Given the description of an element on the screen output the (x, y) to click on. 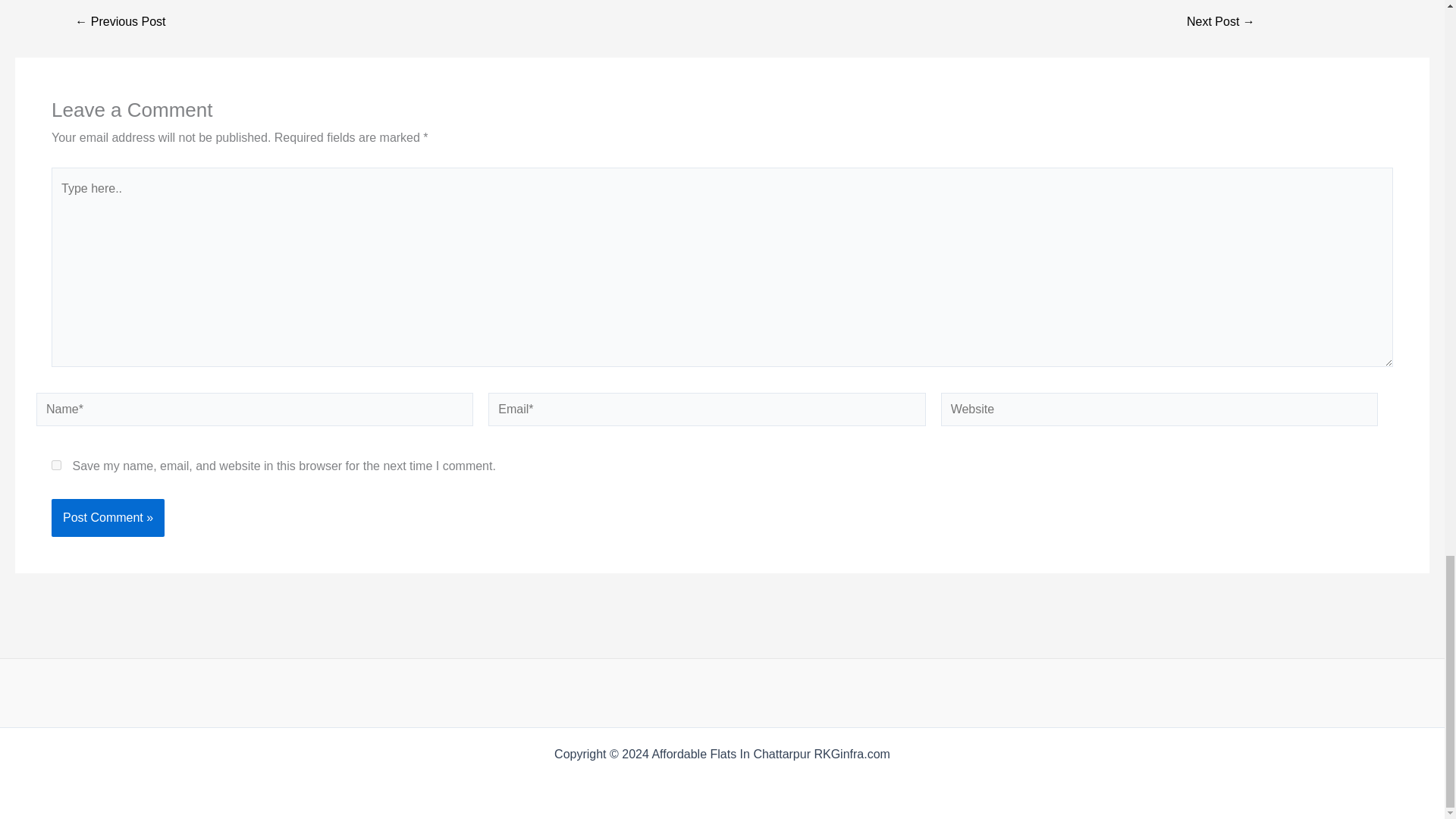
Best Flats in Mandi Delhi For Sale (119, 21)
2BHK Rajpur Near South Asian University (1220, 21)
yes (55, 465)
